Given the description of an element on the screen output the (x, y) to click on. 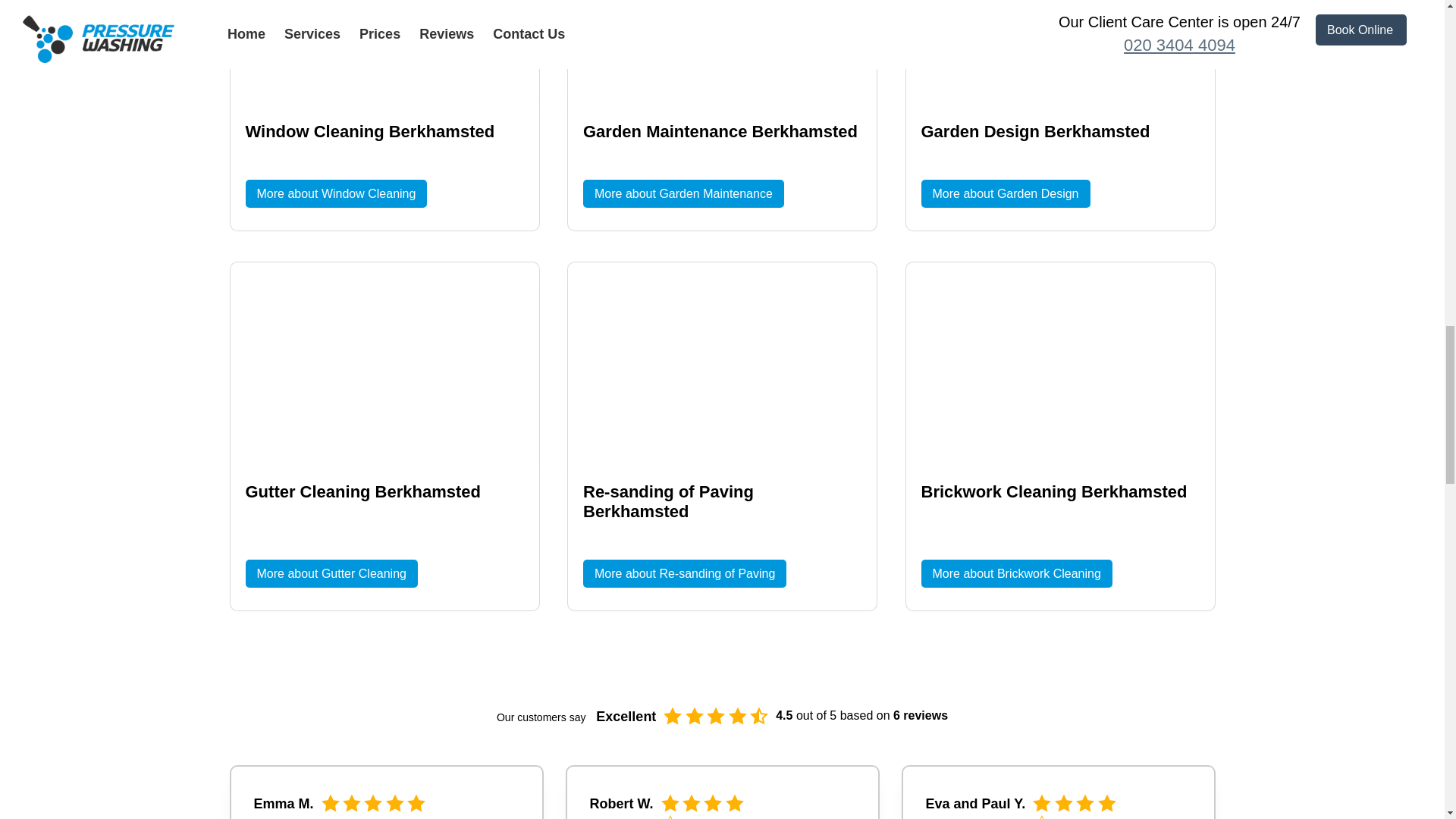
More about Garden Design (1004, 193)
More about Re-sanding of Paving (684, 573)
More about Window Cleaning (337, 193)
More about Garden Maintenance (683, 193)
More about Brickwork Cleaning (1016, 573)
More about Gutter Cleaning (331, 573)
